Given the description of an element on the screen output the (x, y) to click on. 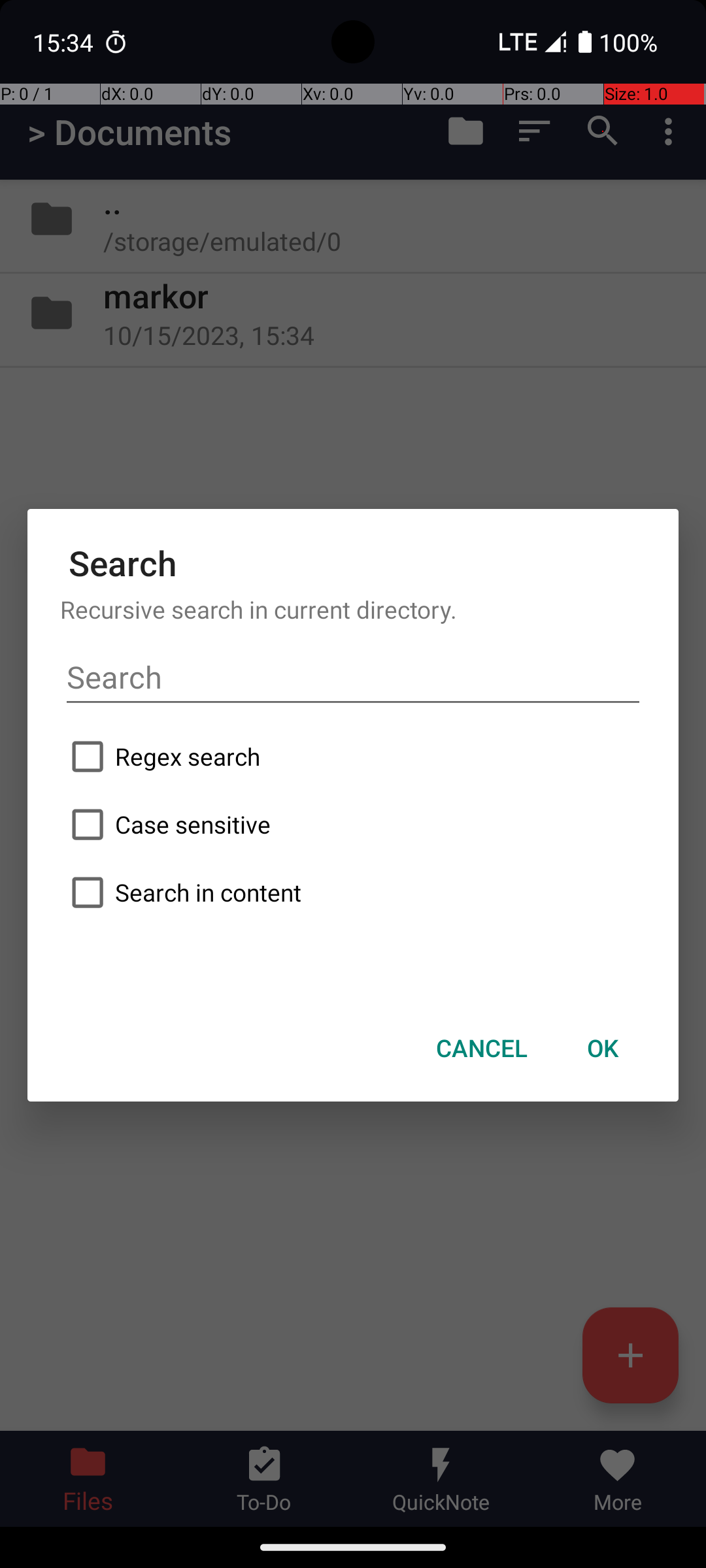
Recursive search in current directory. Element type: android.widget.TextView (352, 608)
Regex search Element type: android.widget.CheckBox (352, 756)
Case sensitive Element type: android.widget.CheckBox (352, 824)
Search in content Element type: android.widget.CheckBox (352, 892)
